Given the description of an element on the screen output the (x, y) to click on. 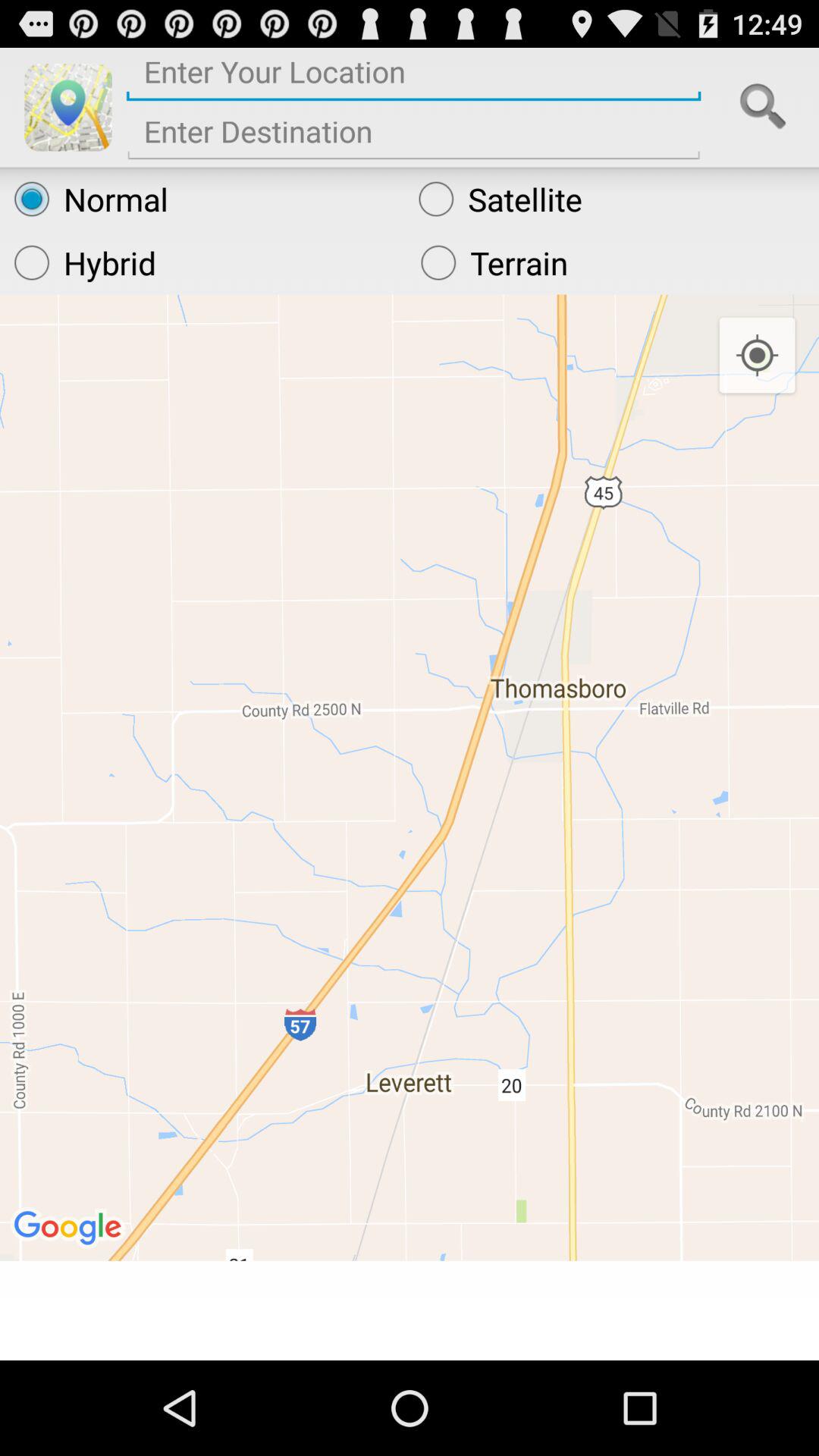
choose item to the right of the normal icon (611, 198)
